Given the description of an element on the screen output the (x, y) to click on. 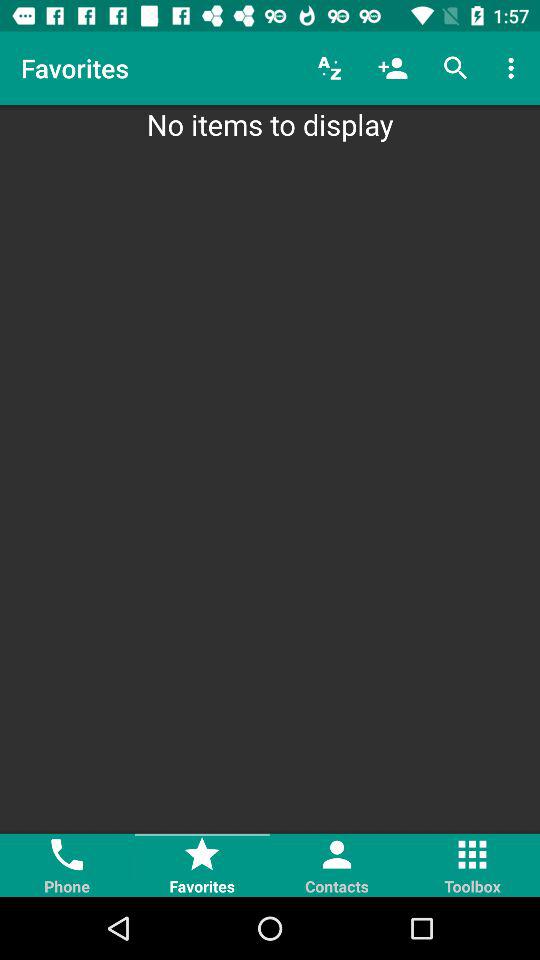
turn on item above no items to icon (513, 67)
